Given the description of an element on the screen output the (x, y) to click on. 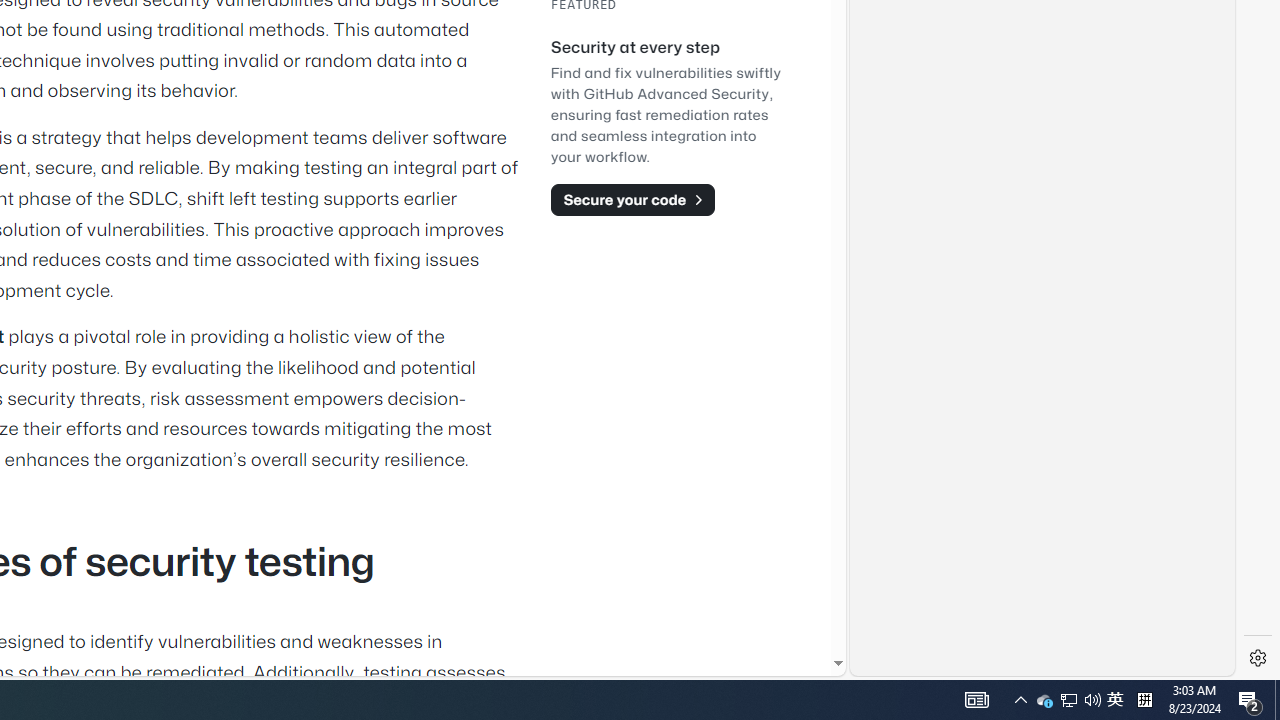
Secure your code (632, 199)
Settings (1258, 658)
